Given the description of an element on the screen output the (x, y) to click on. 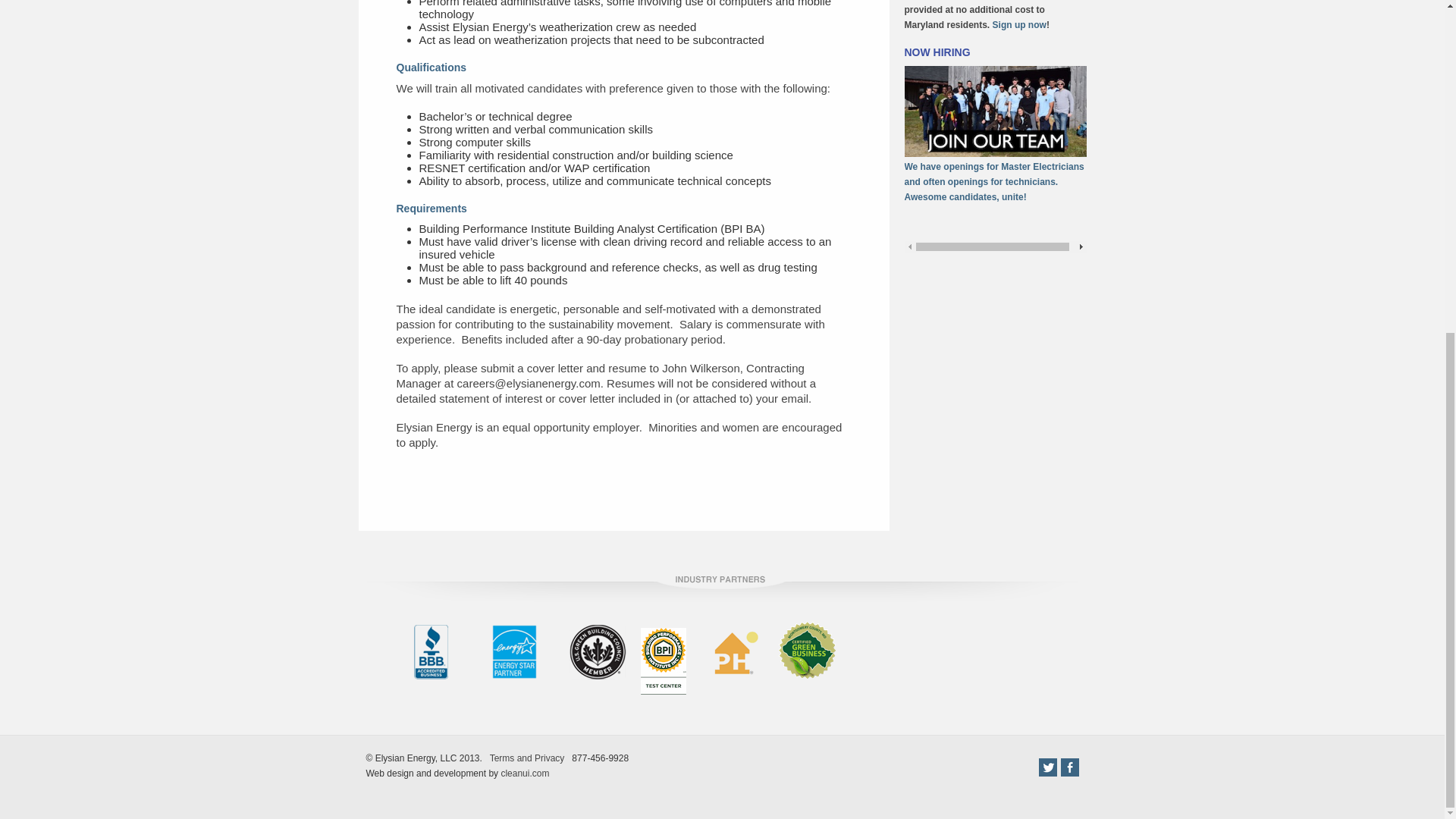
Sign up now (1019, 24)
Contact (1019, 24)
Terms and Privacy (526, 757)
